Given the description of an element on the screen output the (x, y) to click on. 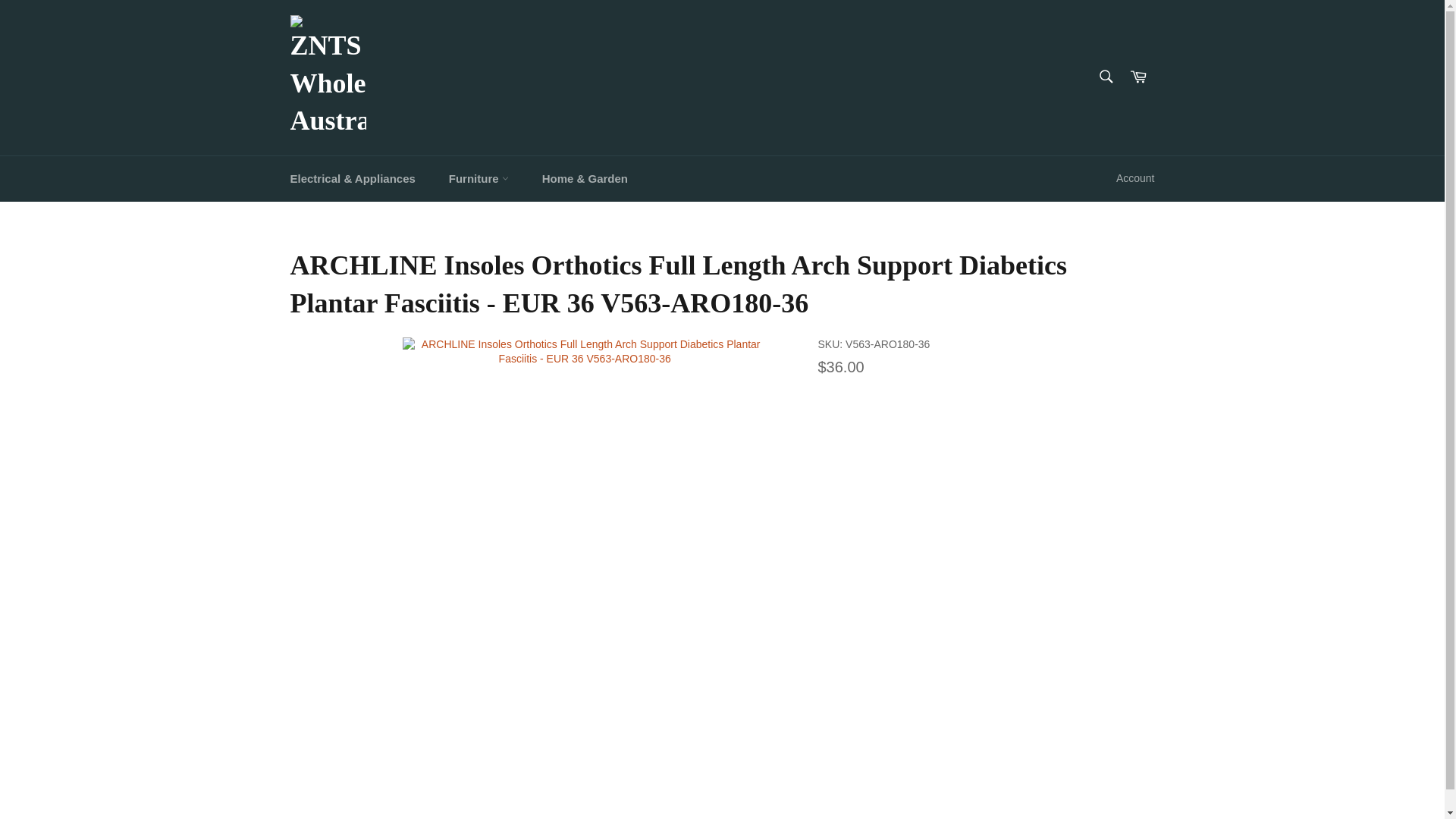
Account (1134, 178)
Search (1104, 76)
Furniture (478, 179)
Cart (1138, 77)
